Given the description of an element on the screen output the (x, y) to click on. 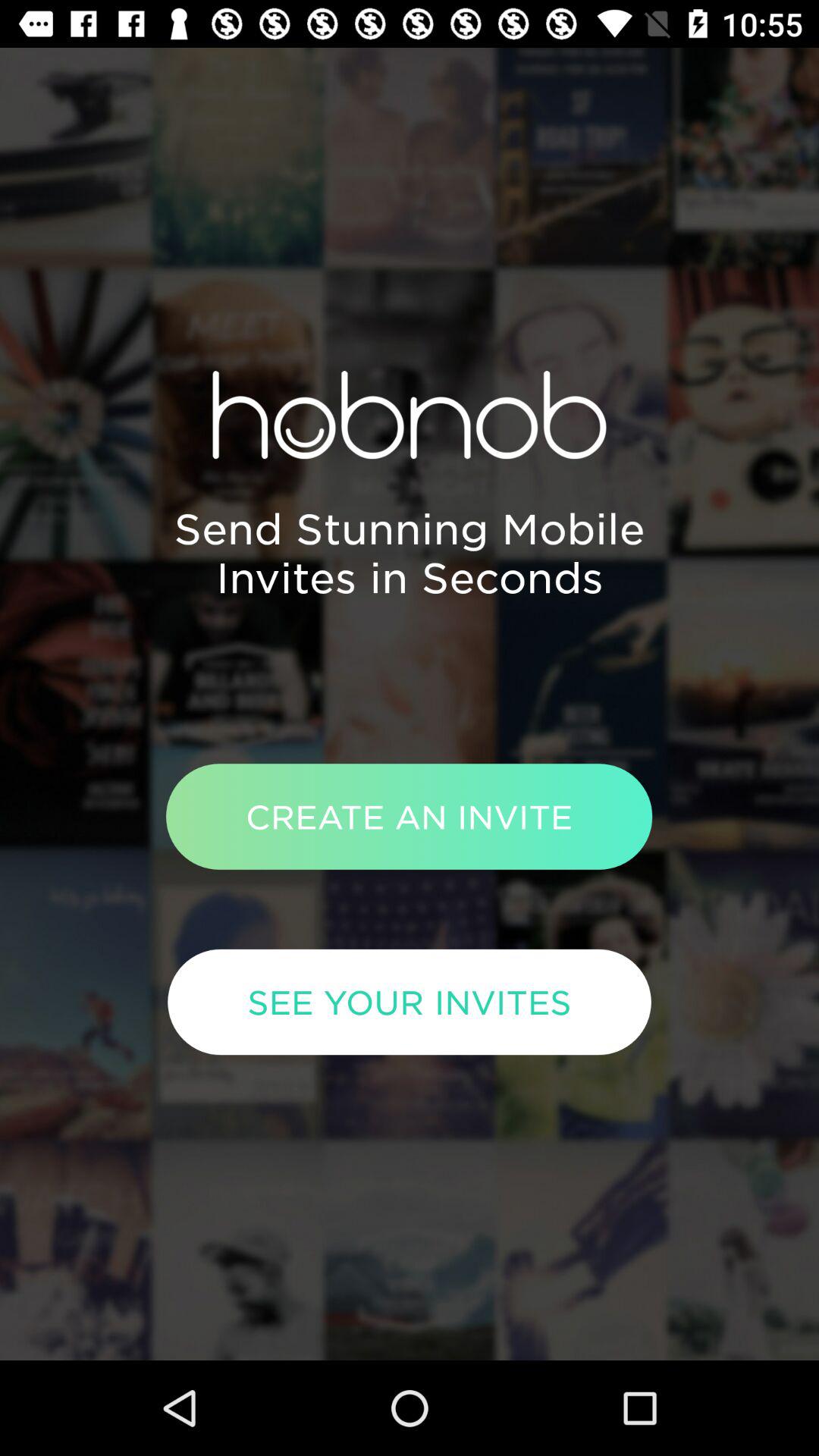
turn off item below send stunning mobile icon (409, 816)
